Given the description of an element on the screen output the (x, y) to click on. 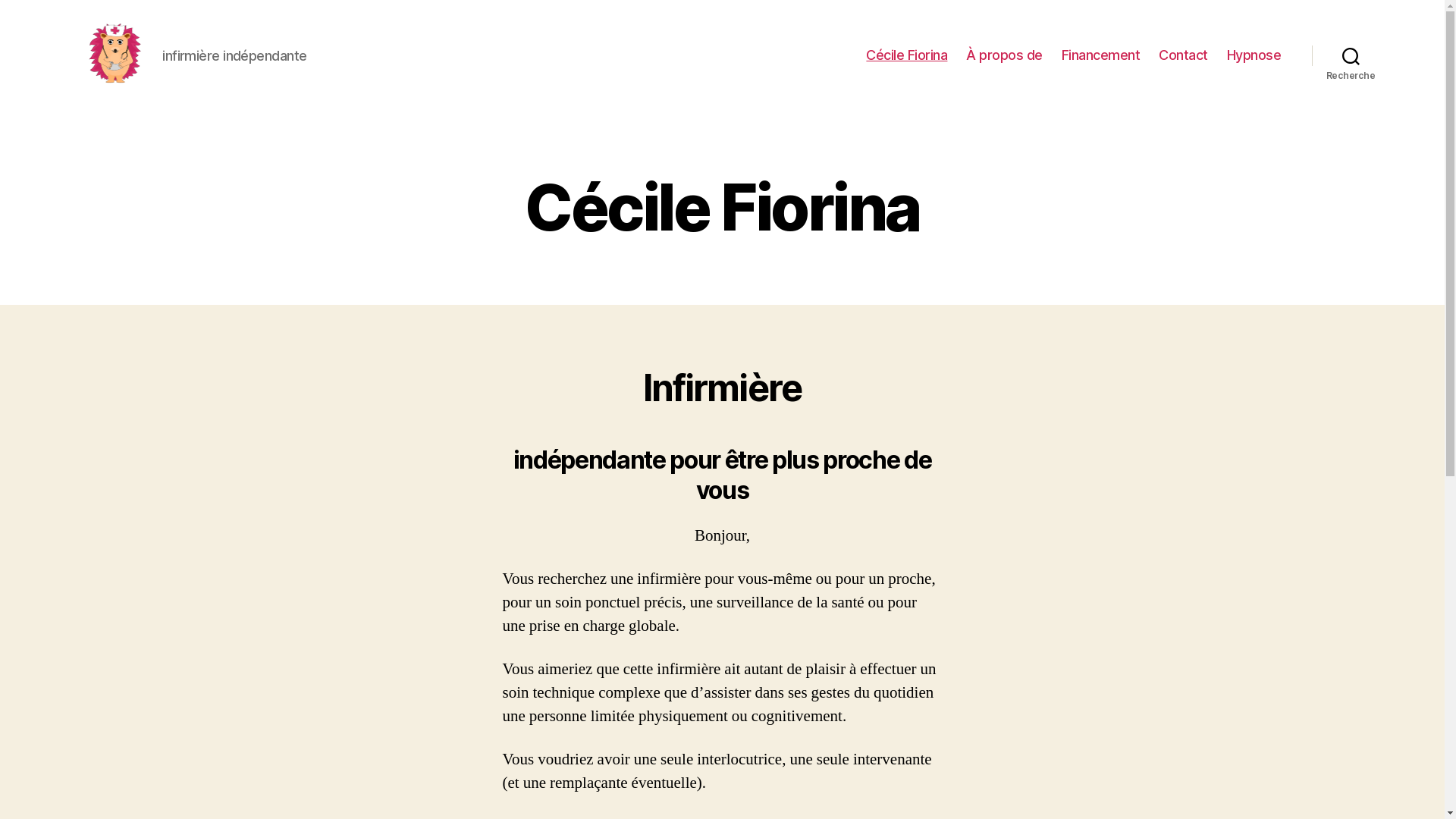
Hypnose Element type: text (1253, 55)
Financement Element type: text (1100, 55)
Contact Element type: text (1183, 55)
Recherche Element type: text (1350, 55)
